Given the description of an element on the screen output the (x, y) to click on. 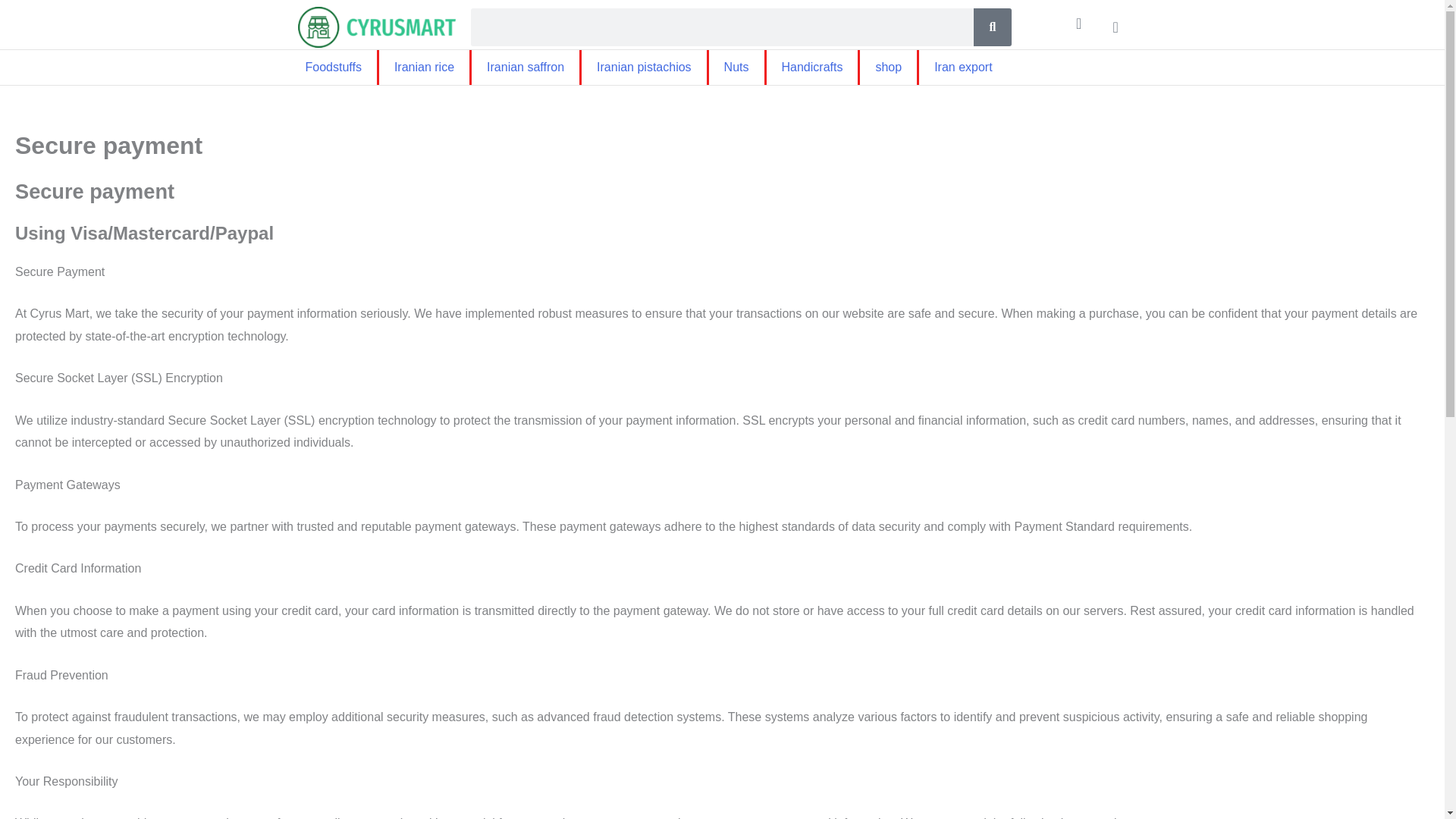
Iranian pistachios (643, 67)
Iran export (962, 67)
Nuts (736, 67)
Foodstuffs (332, 67)
Search (992, 26)
shop (888, 67)
Iranian saffron (525, 67)
Handicrafts (811, 67)
Cart (1115, 26)
Iranian rice (423, 67)
